Given the description of an element on the screen output the (x, y) to click on. 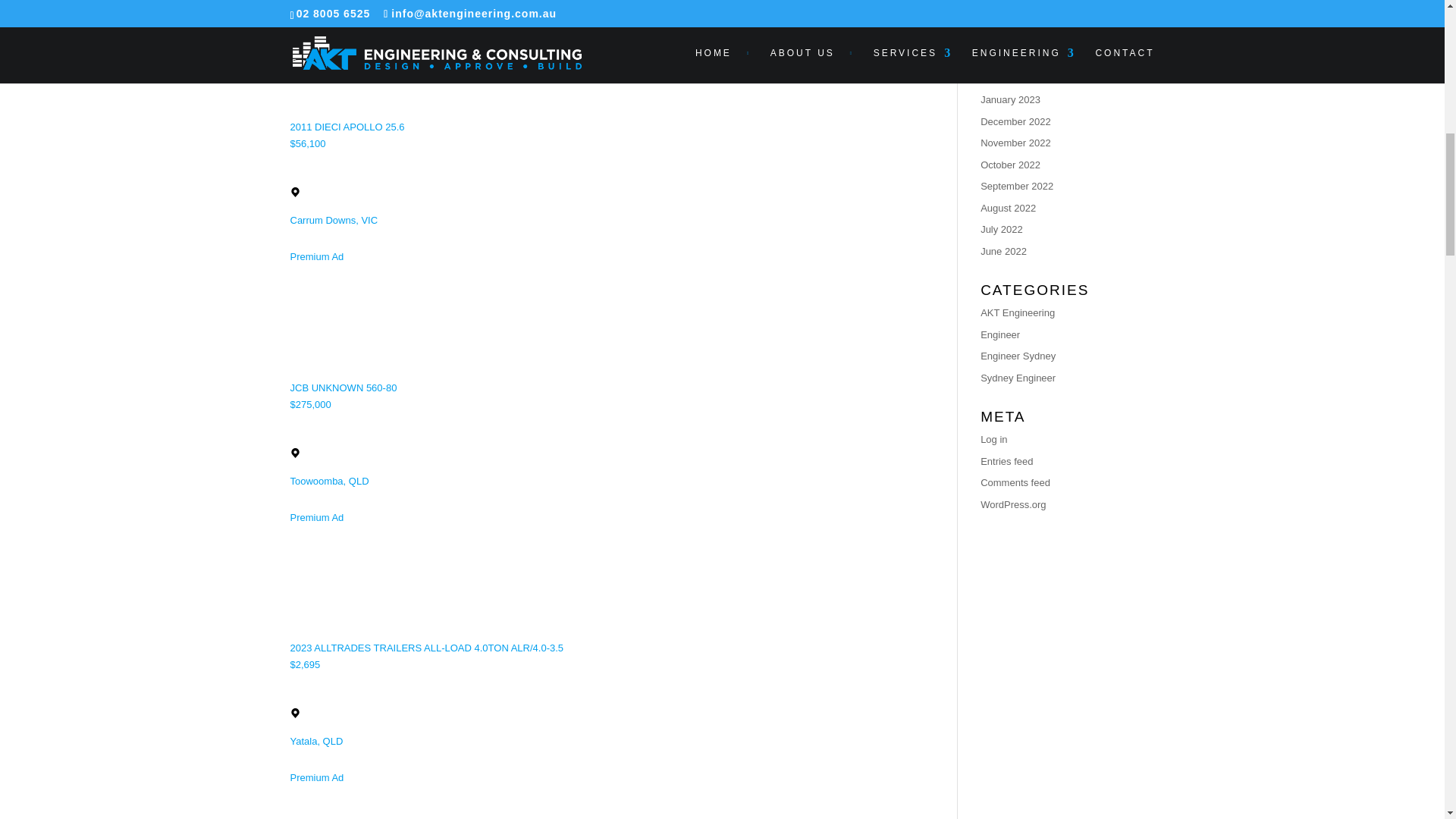
Location marker The shape of a location marker (294, 713)
Location marker The shape of a location marker (294, 192)
Location marker The shape of a location marker (294, 452)
